Given the description of an element on the screen output the (x, y) to click on. 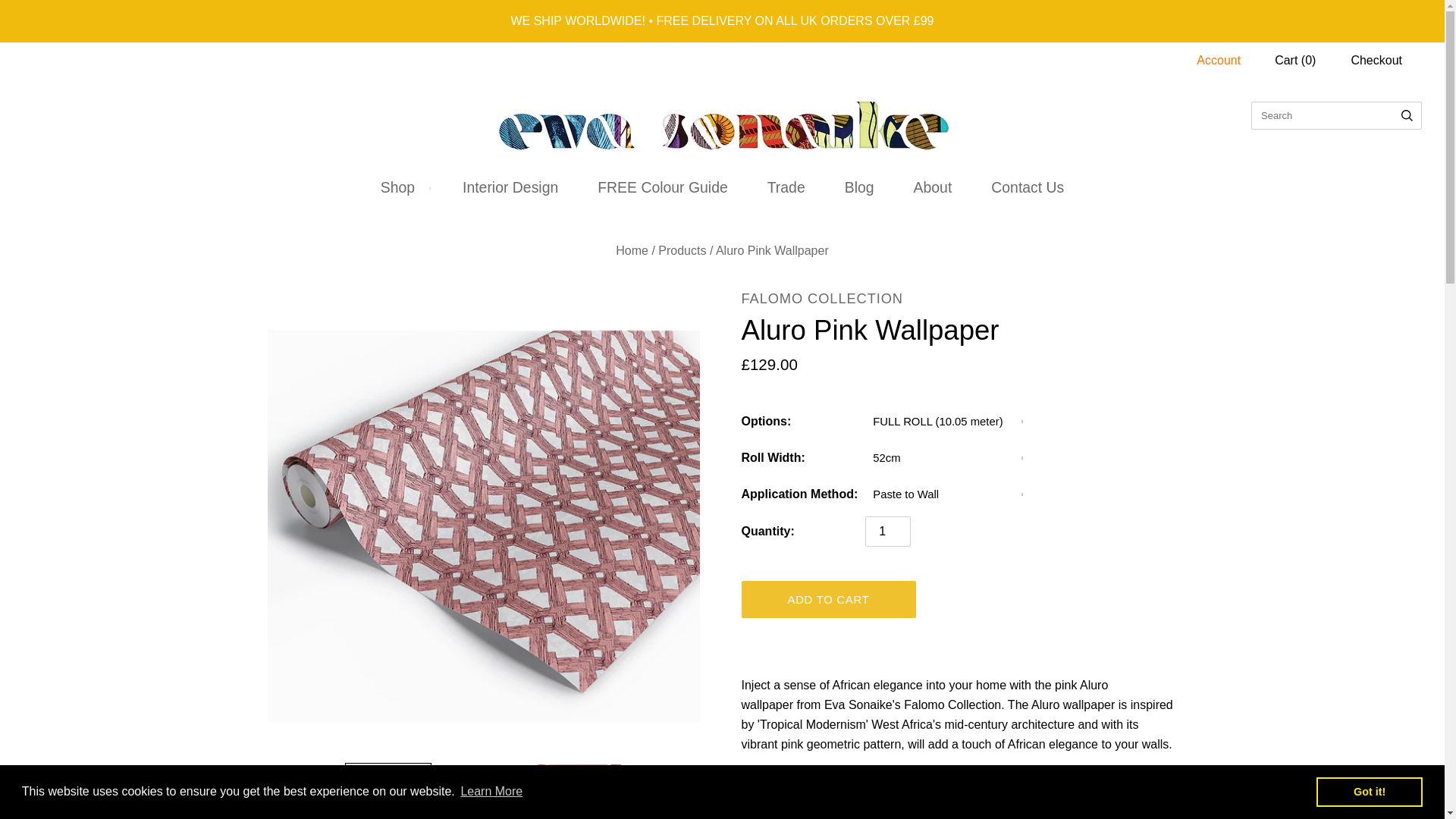
About (932, 187)
Add to cart (828, 599)
FREE Colour Guide (663, 187)
Checkout (1375, 60)
1 (887, 531)
Account (1218, 60)
Learn More (491, 791)
Contact Us (1027, 187)
Blog (859, 187)
Trade (786, 187)
Interior Design (510, 187)
Got it! (1369, 791)
